Given the description of an element on the screen output the (x, y) to click on. 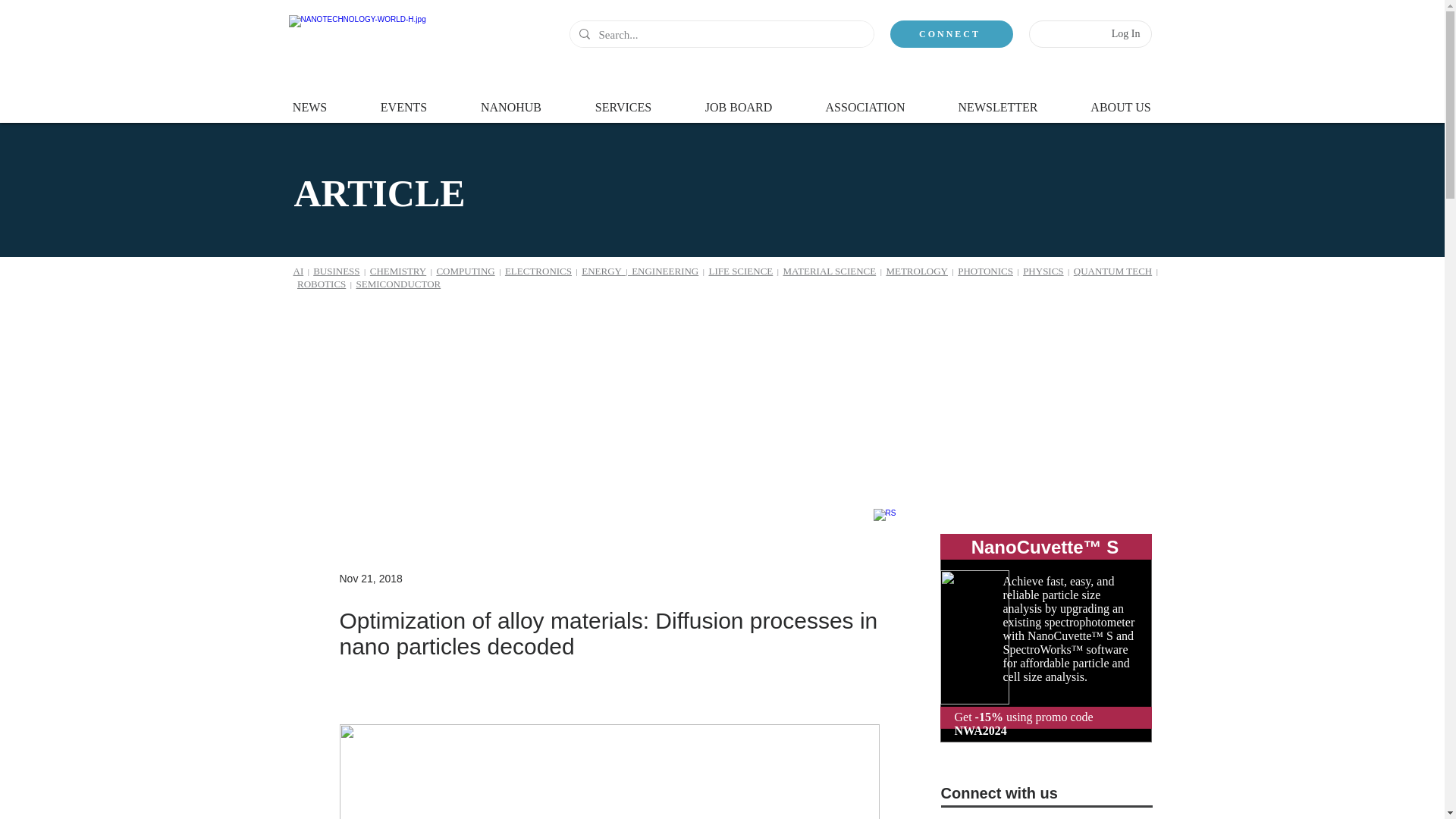
Nov 21, 2018 (371, 578)
SERVICES (623, 100)
ENGINEERING (664, 270)
Log In (1125, 33)
CHEMISTRY (397, 270)
ABOUT US (1120, 100)
COMPUTING (465, 270)
NEWSLETTER (997, 100)
METROLOGY (916, 270)
JOB BOARD (737, 100)
CONNECT (951, 33)
ELECTRONICS (538, 270)
BUSINESS (336, 270)
EVENTS (402, 100)
MATERIAL SCIENCE (829, 270)
